Given the description of an element on the screen output the (x, y) to click on. 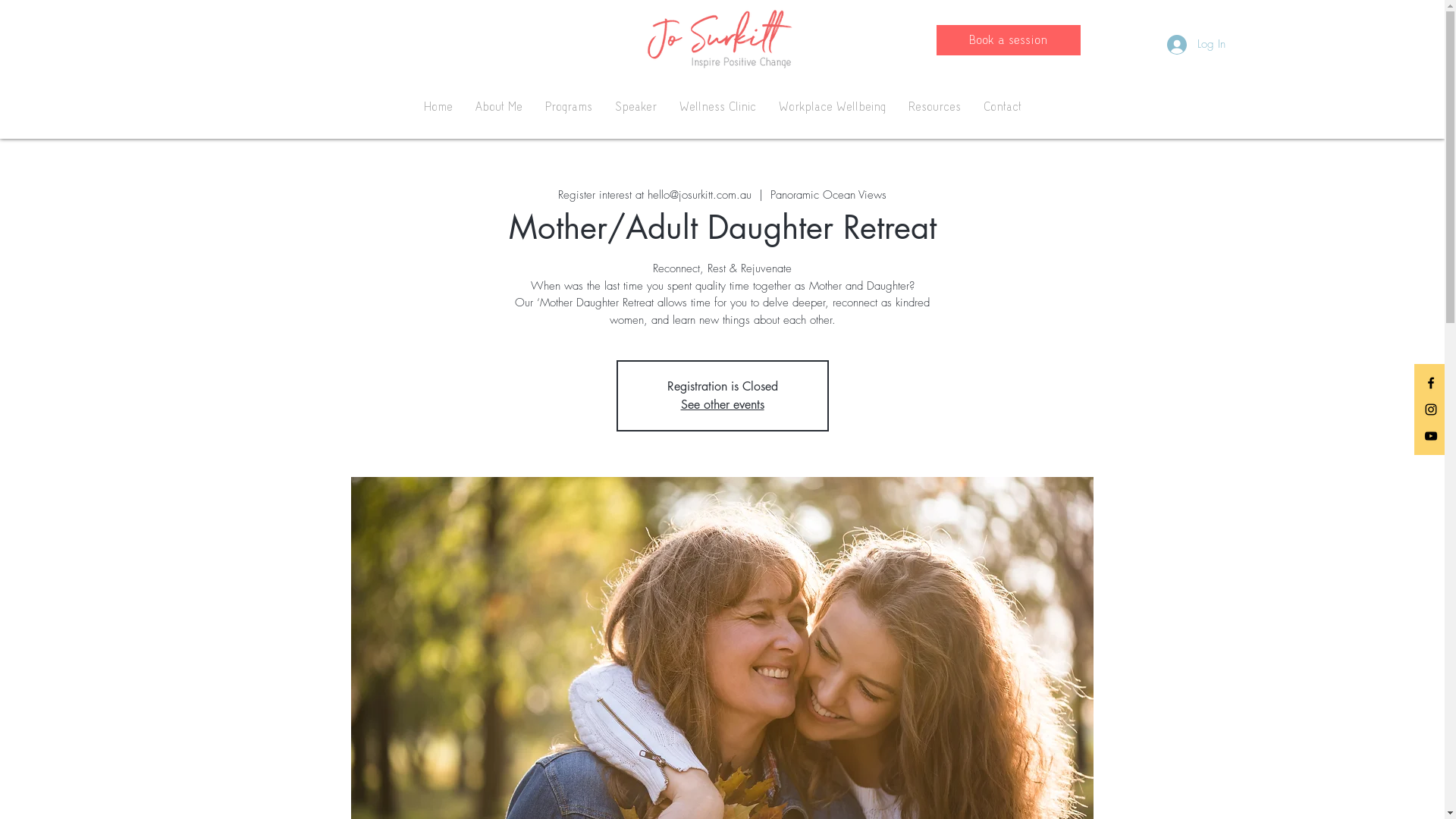
Speaker Element type: text (635, 106)
Log In Element type: text (1195, 44)
Workplace Wellbeing Element type: text (832, 106)
About Me Element type: text (498, 106)
Wellness Clinic Element type: text (716, 106)
Resources Element type: text (933, 106)
Programs Element type: text (568, 106)
Home Element type: text (438, 106)
See other events Element type: text (722, 404)
Contact Element type: text (1002, 106)
Book a session Element type: text (1007, 40)
